Given the description of an element on the screen output the (x, y) to click on. 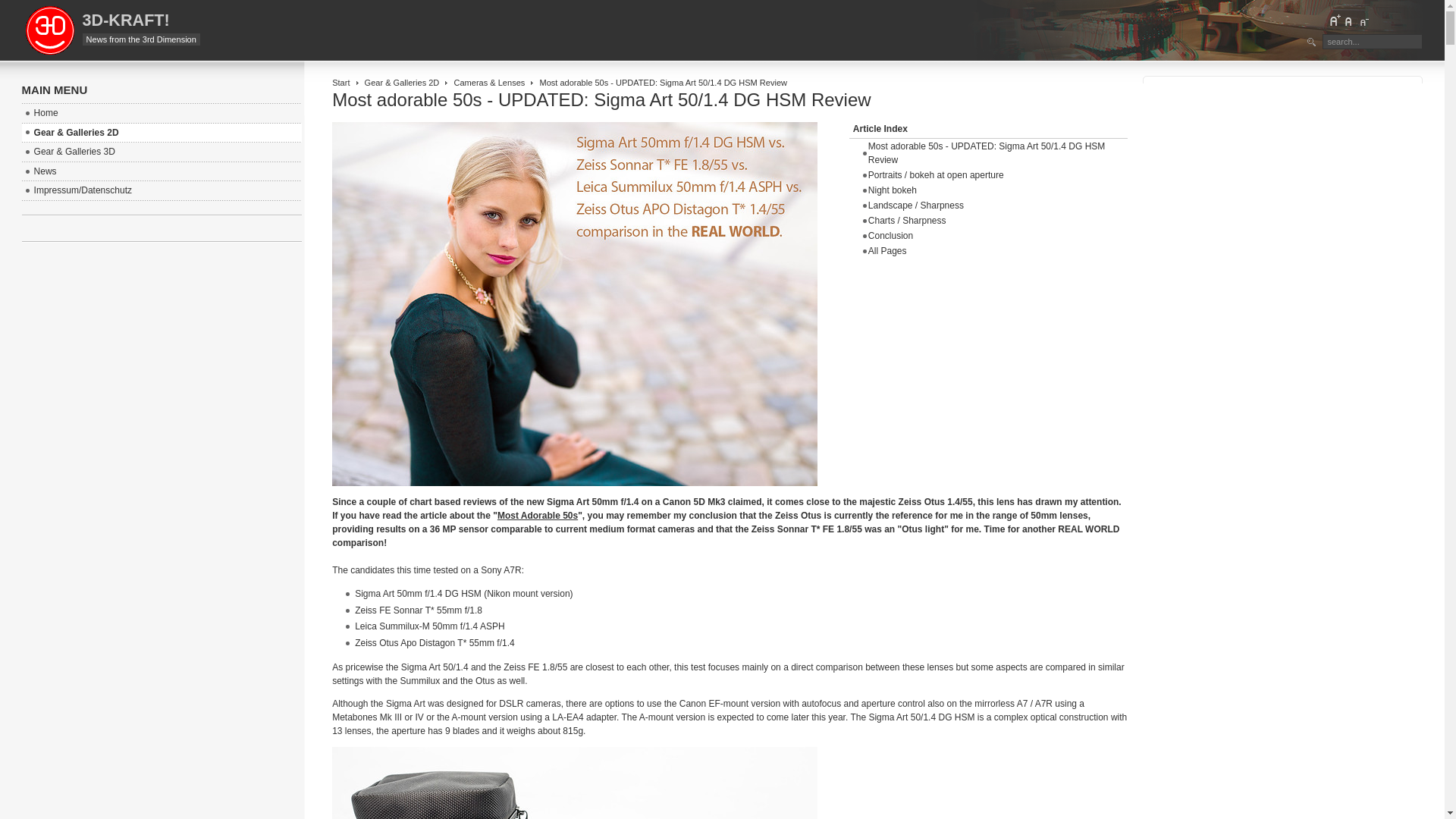
Charts / Sharpness Element type: text (907, 220)
Most adorable 50s - UPDATED: Sigma Art 50/1.4 DG HSM Review Element type: text (601, 99)
Impressum/Datenschutz Element type: text (161, 190)
Most Adorable 50s Element type: text (537, 515)
Portraits / bokeh at open aperture Element type: text (936, 174)
Gear & Galleries 3D Element type: text (161, 152)
All Pages Element type: text (887, 250)
Most adorable 50s - UPDATED: Sigma Art 50/1.4 DG HSM Review Element type: text (986, 153)
3DKraft.de Element type: hover (49, 30)
Gear & Galleries 2D Element type: text (401, 82)
News Element type: text (161, 172)
Conclusion Element type: text (890, 235)
Night bokeh Element type: text (892, 190)
Default font size Element type: hover (1349, 20)
Increase font size Element type: hover (1334, 20)
Decrease font size Element type: hover (1363, 20)
Start Element type: text (340, 82)
Landscape / Sharpness Element type: text (915, 205)
3D-KRAFT! Element type: text (125, 20)
Home Element type: text (161, 113)
Cameras & Lenses Element type: text (488, 82)
Gear & Galleries 2D Element type: text (161, 133)
